Given the description of an element on the screen output the (x, y) to click on. 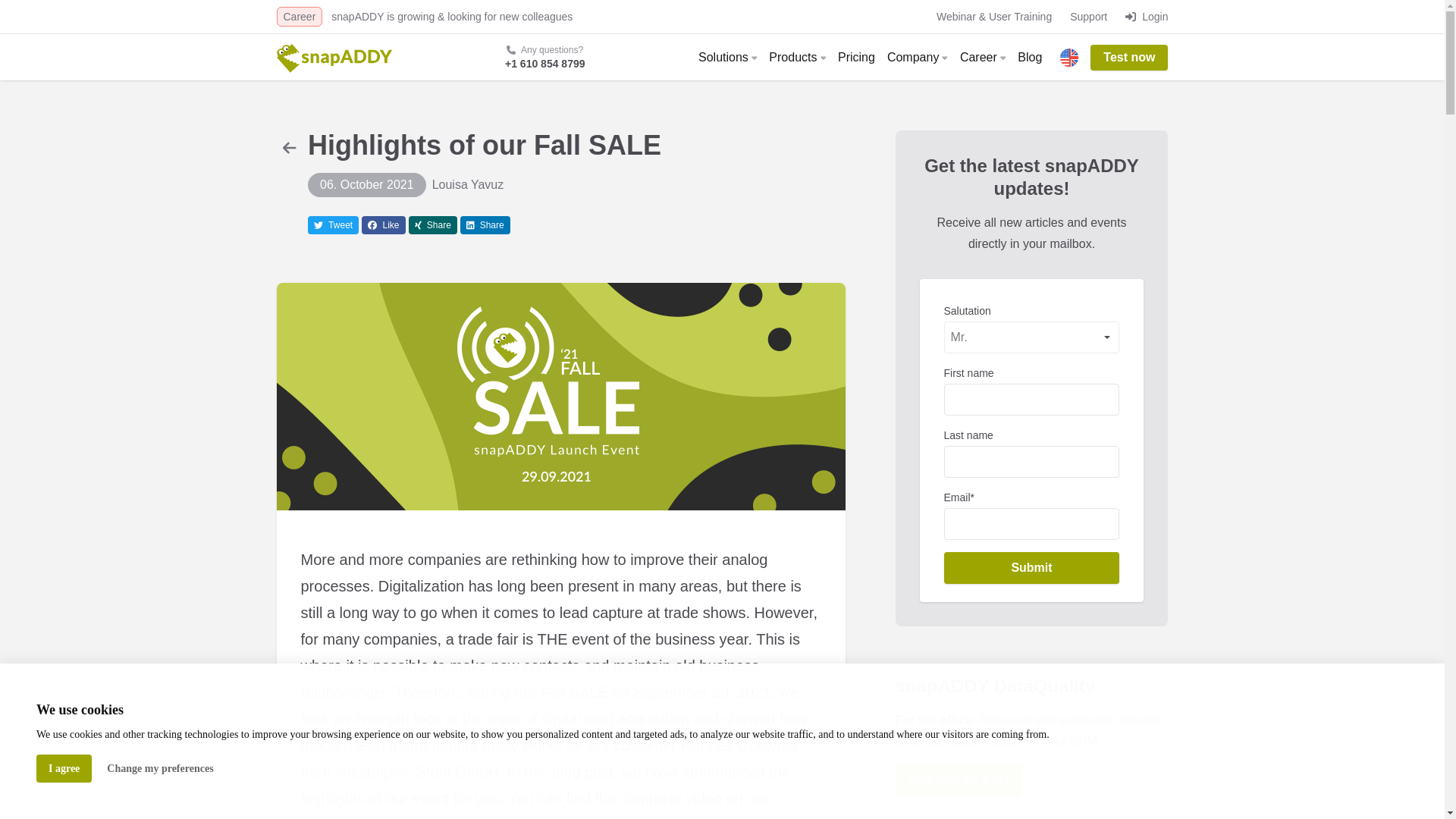
snapADDY Webinars (993, 16)
Career (298, 16)
Change my preferences (159, 768)
Karriere bei der snapADDY GmbH (298, 16)
I agree (63, 768)
Pricing (855, 57)
Submit (1031, 567)
Login (1146, 16)
Support (1088, 16)
